Given the description of an element on the screen output the (x, y) to click on. 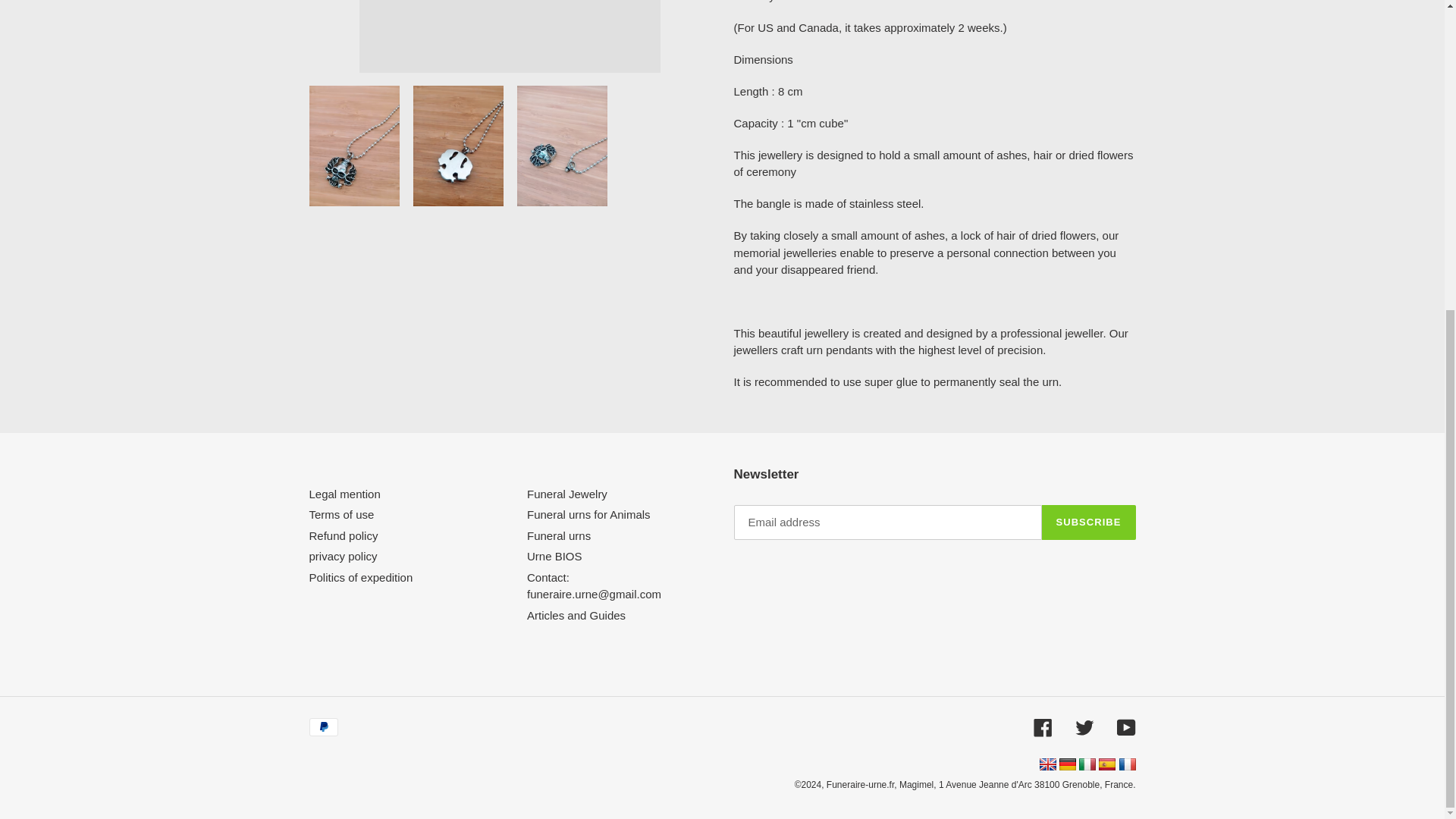
die-bestattungsurne.com (1067, 766)
cinerarie-urne.it (1087, 766)
funeraire urne France (1127, 764)
funeraire-urne.fr (1127, 766)
funeraria-urna.es (1108, 766)
